Given the description of an element on the screen output the (x, y) to click on. 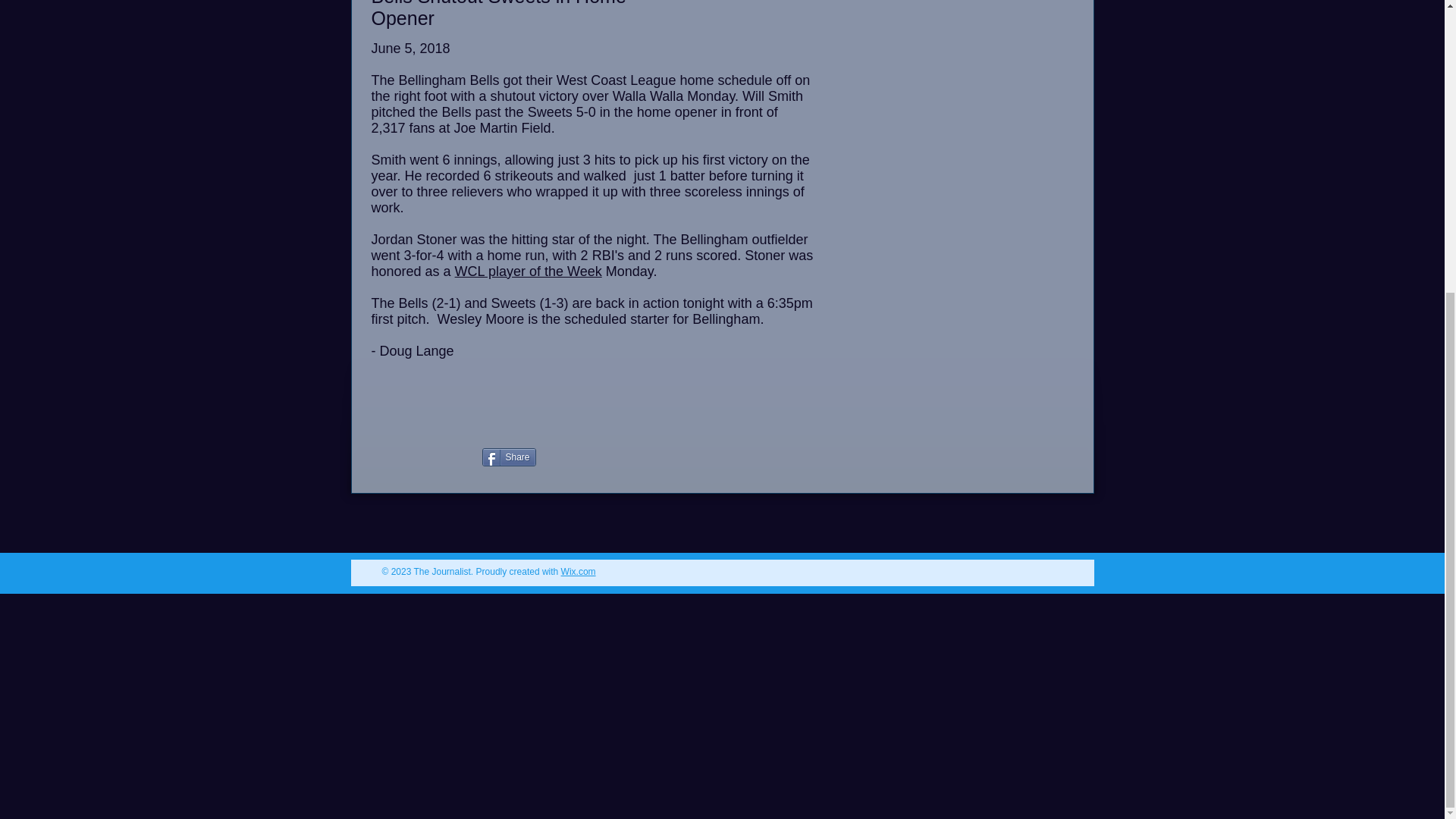
Share (508, 456)
Twitter Tweet (694, 458)
